Given the description of an element on the screen output the (x, y) to click on. 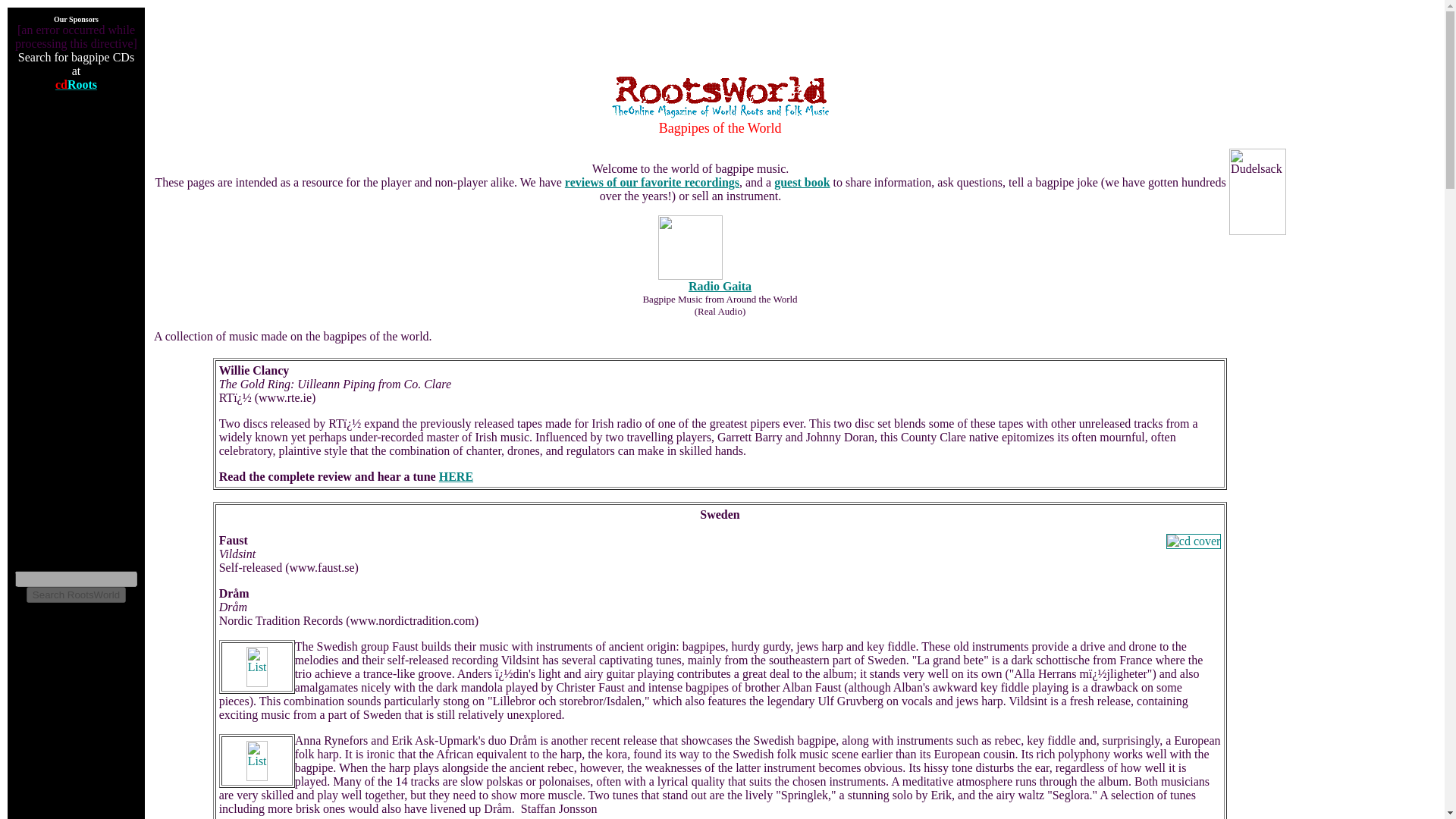
Radio Gaita (719, 286)
Search RootsWorld (75, 594)
reviews of our favorite recordings (651, 182)
guest book (801, 182)
cdRoots (76, 83)
Search RootsWorld (75, 594)
HERE (456, 476)
